Given the description of an element on the screen output the (x, y) to click on. 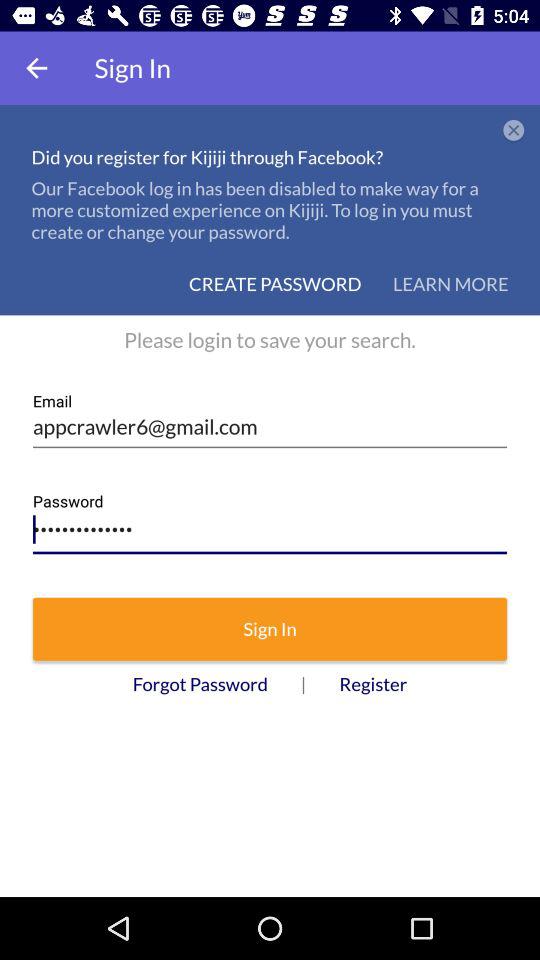
open item above the did you register icon (36, 68)
